Given the description of an element on the screen output the (x, y) to click on. 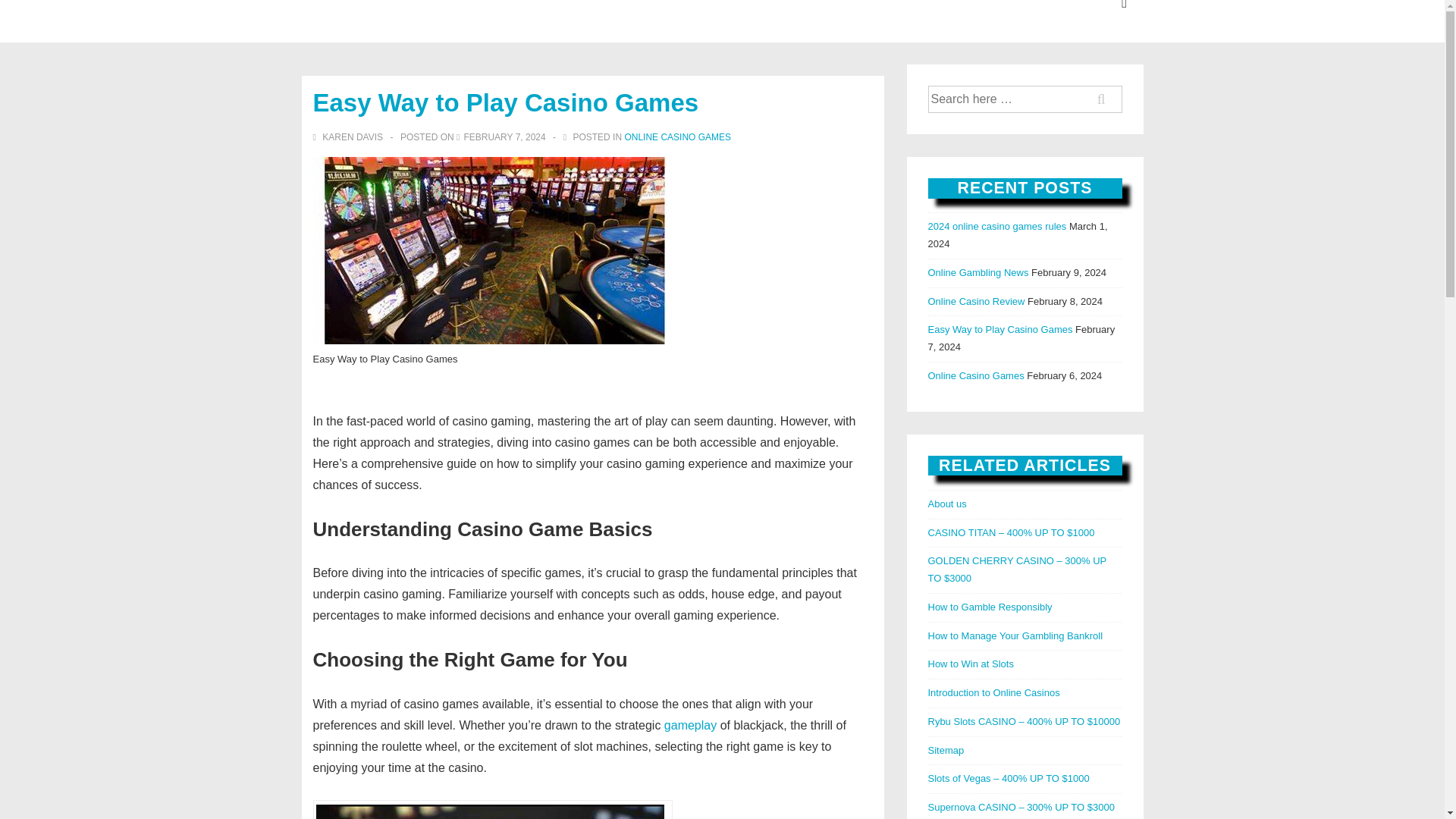
Online Casino Games (976, 375)
KAREN DAVIS (349, 136)
ONLINE CASINO GAMES (677, 136)
FEBRUARY 7, 2024 (503, 136)
Sitemap (945, 749)
How to Gamble Responsibly (990, 606)
Easy Way to Play Casino Games (1000, 328)
Online Casino Review (976, 301)
How to Manage Your Gambling Bankroll (1015, 635)
Online Gambling News (978, 272)
